Given the description of an element on the screen output the (x, y) to click on. 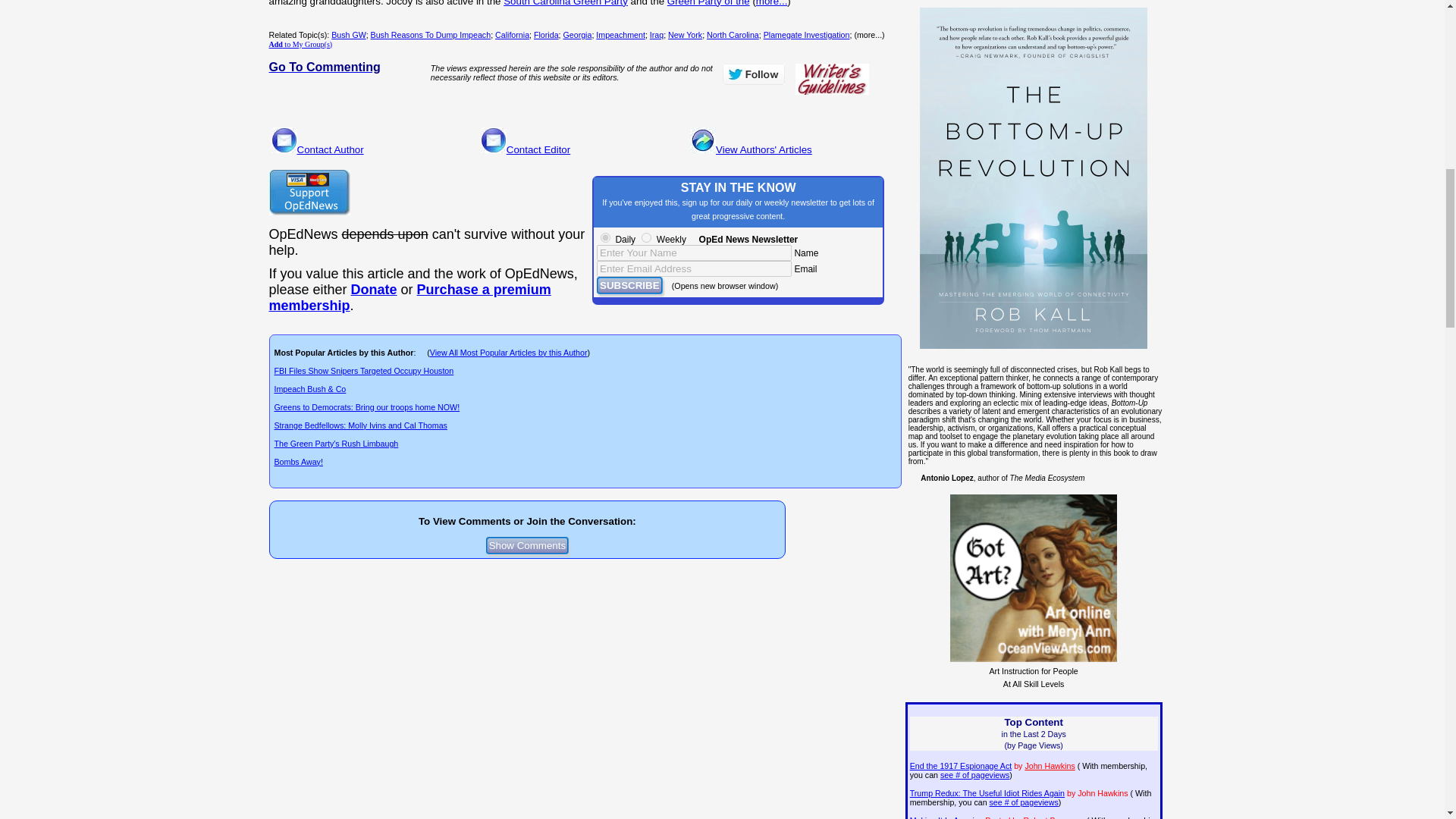
California (512, 34)
Weekly (646, 237)
Enter Your Name (694, 252)
SUBSCRIBE (629, 285)
Bush Reasons To Dump Impeach (431, 34)
Impeachment (620, 34)
more... (771, 3)
Georgia (576, 34)
Green Party of the (707, 3)
Enter Email Address (694, 268)
South Carolina Green Party (565, 3)
Daily (604, 237)
Follow Me on Twitter (753, 74)
Show Comments (527, 545)
Iraq (656, 34)
